Given the description of an element on the screen output the (x, y) to click on. 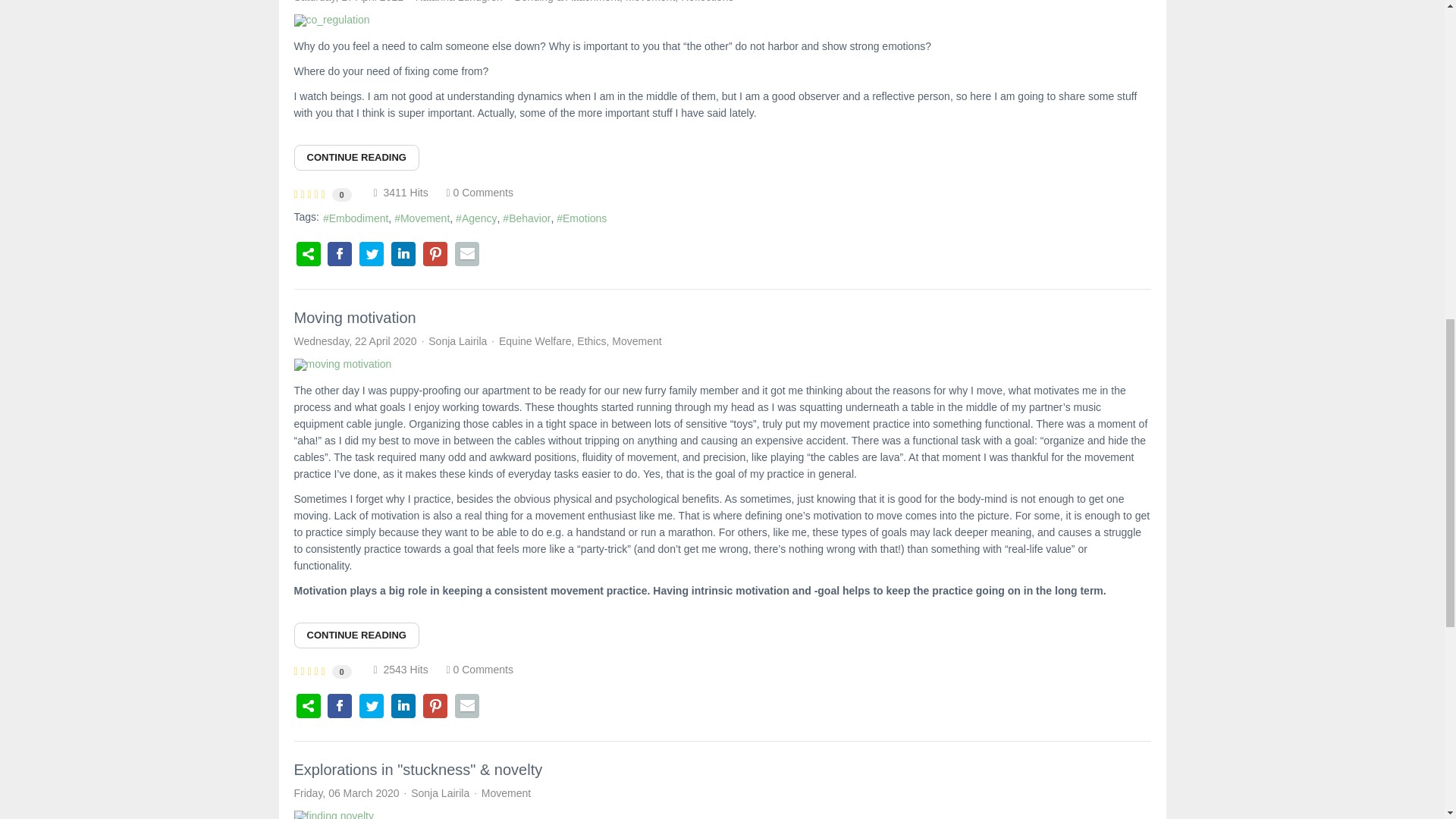
Not rated yet! (309, 193)
